Given the description of an element on the screen output the (x, y) to click on. 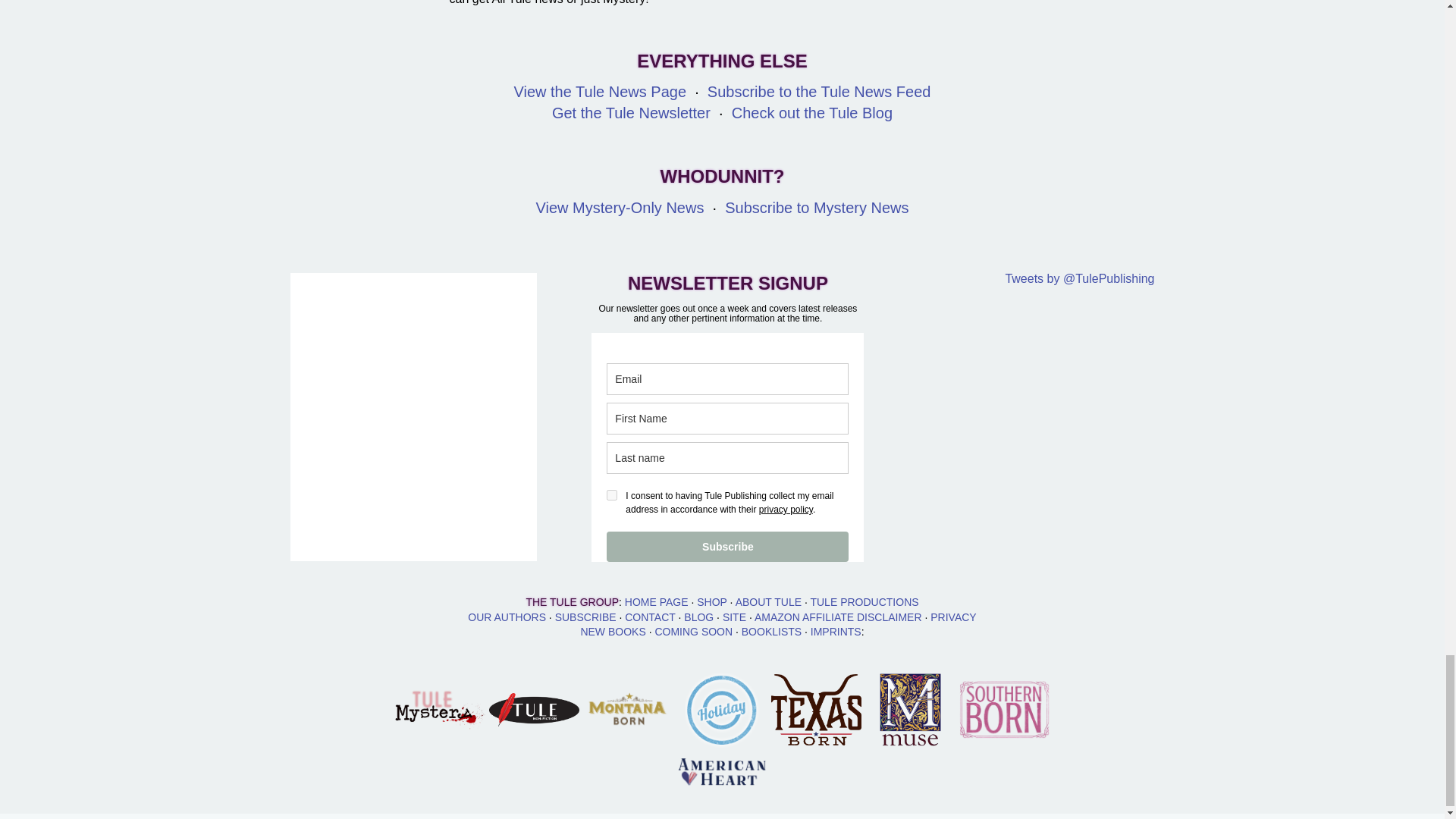
on (612, 494)
